Given the description of an element on the screen output the (x, y) to click on. 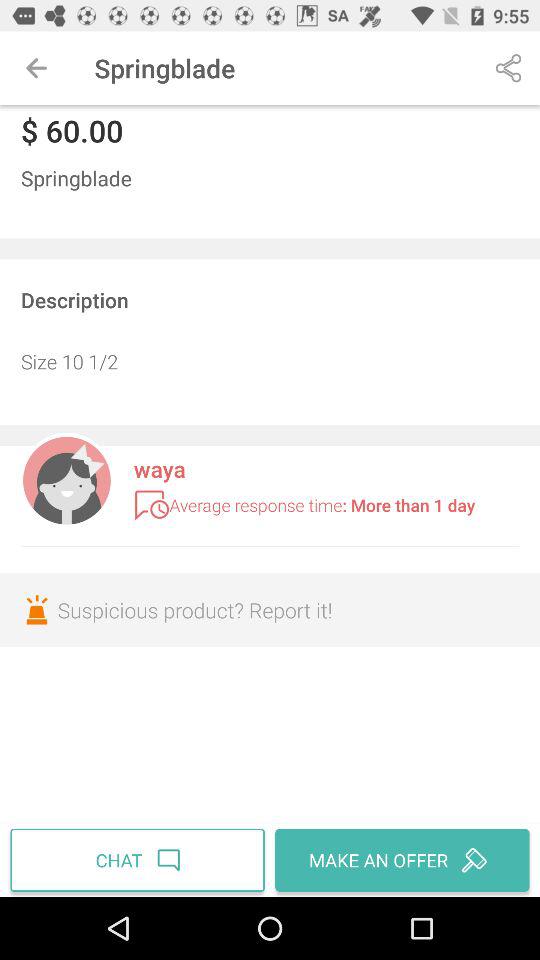
turn off icon above the chat (270, 609)
